Given the description of an element on the screen output the (x, y) to click on. 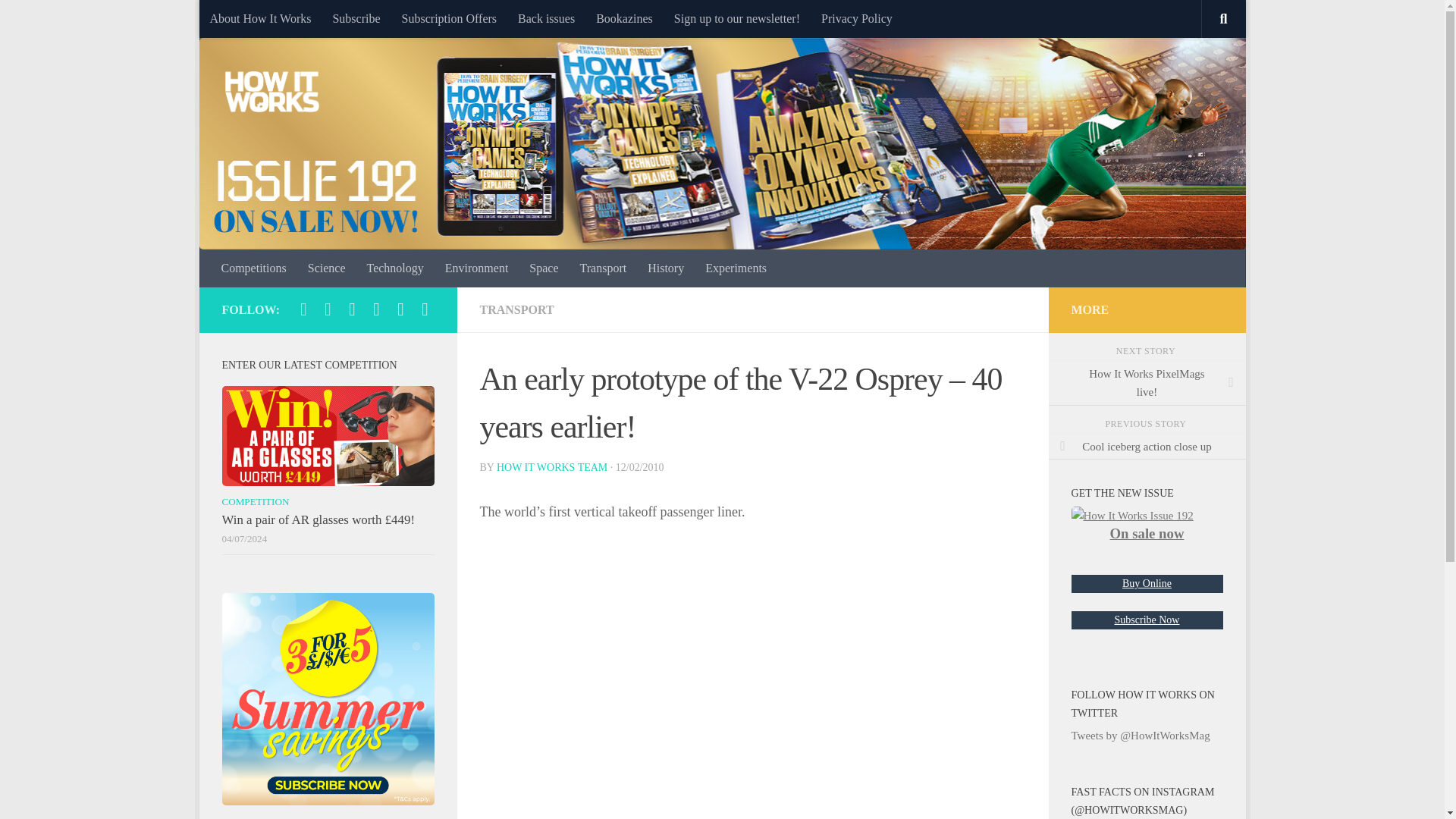
Get digital edition on the App Store (375, 309)
Bookazines (624, 18)
Environment (476, 268)
Follow us on Twitter (400, 309)
Transport (603, 268)
Skip to content (258, 20)
Science (326, 268)
Follow us on Tiktok (303, 309)
Sign up to our newsletter! (736, 18)
Follow us on Facebook (423, 309)
Space (543, 268)
Subscribe (355, 18)
Follow us on Instagram (327, 309)
Back issues (545, 18)
Experiments (735, 268)
